Given the description of an element on the screen output the (x, y) to click on. 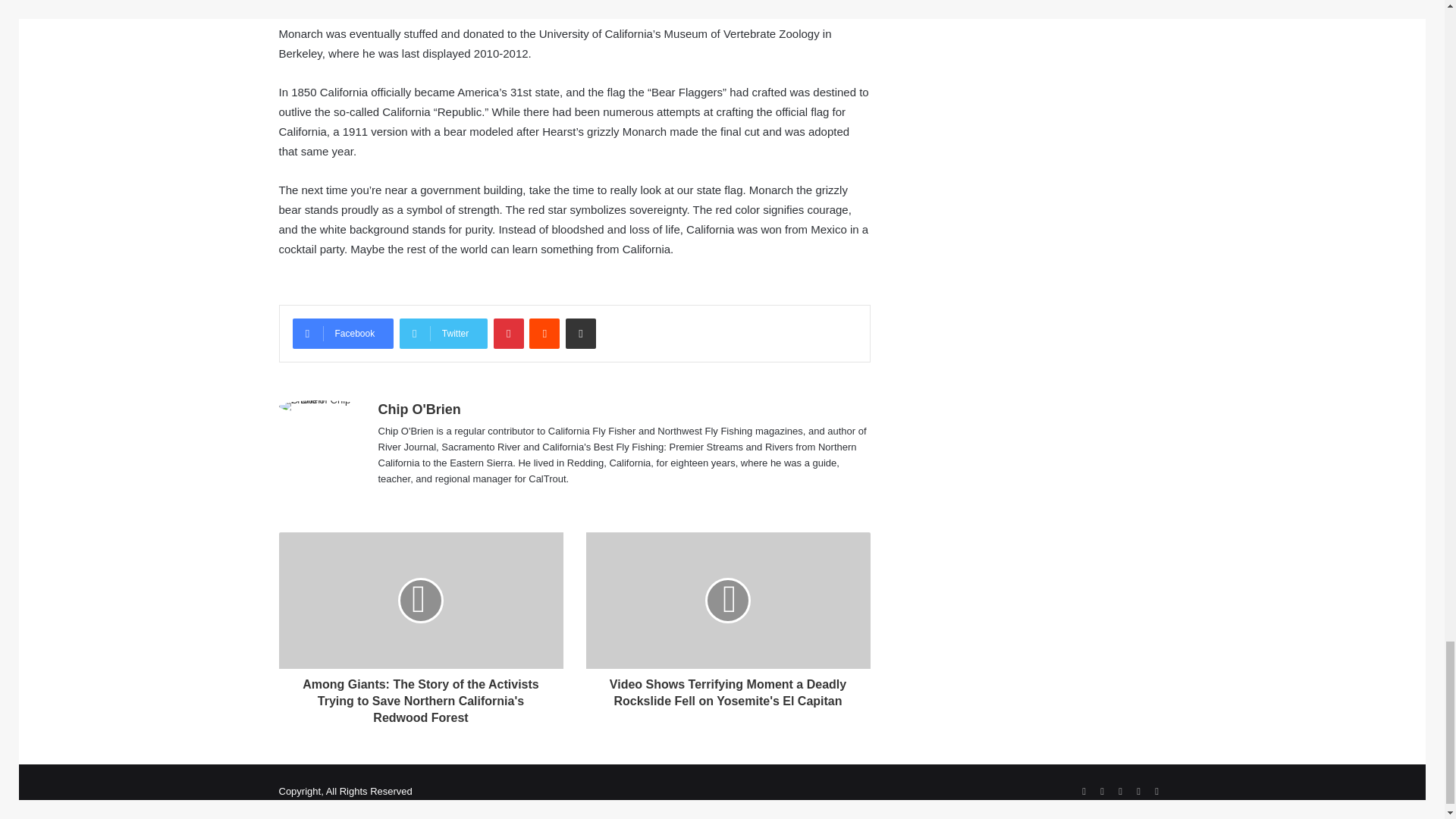
Facebook (343, 333)
Twitter (442, 333)
Reddit (544, 333)
Pinterest (508, 333)
